Given the description of an element on the screen output the (x, y) to click on. 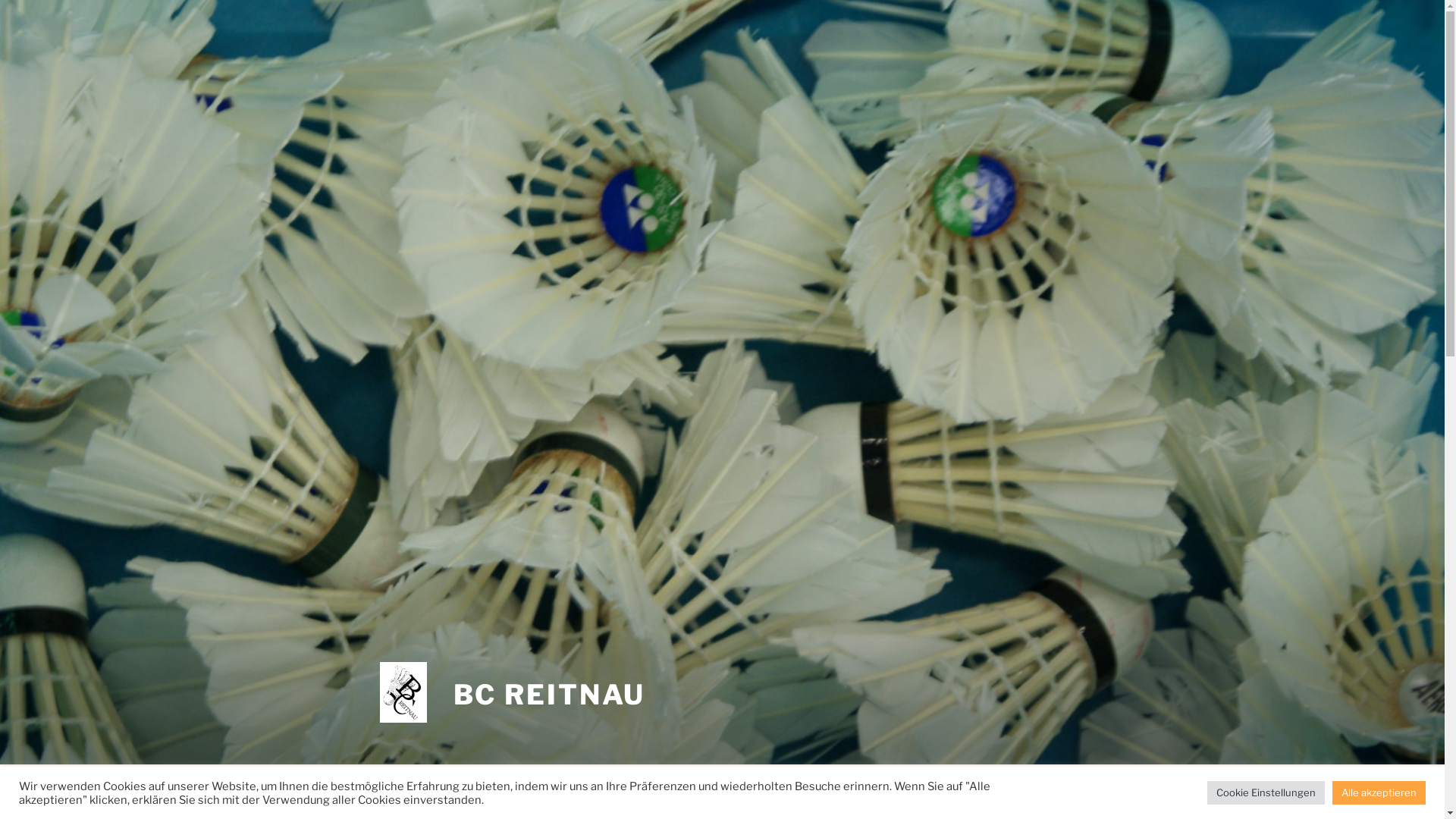
Home Element type: text (451, 791)
Home Element type: text (508, 791)
Alle akzeptieren Element type: text (1378, 792)
Zum Inhalt nach unten scrollen Element type: text (1083, 790)
Home Element type: text (392, 791)
Cookie Einstellungen Element type: text (1265, 792)
BC REITNAU Element type: text (549, 694)
